Given the description of an element on the screen output the (x, y) to click on. 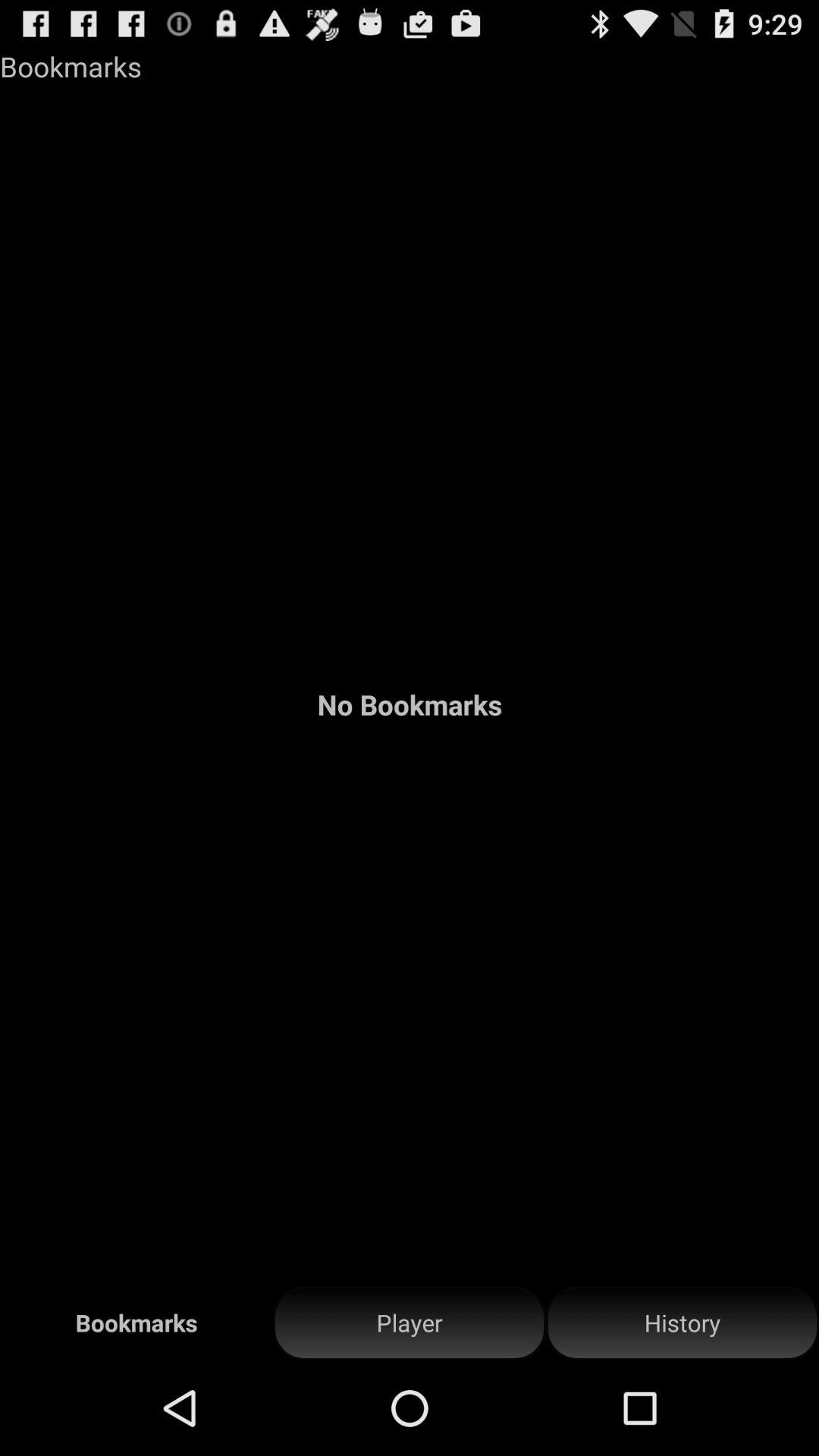
select the player (409, 1323)
